Given the description of an element on the screen output the (x, y) to click on. 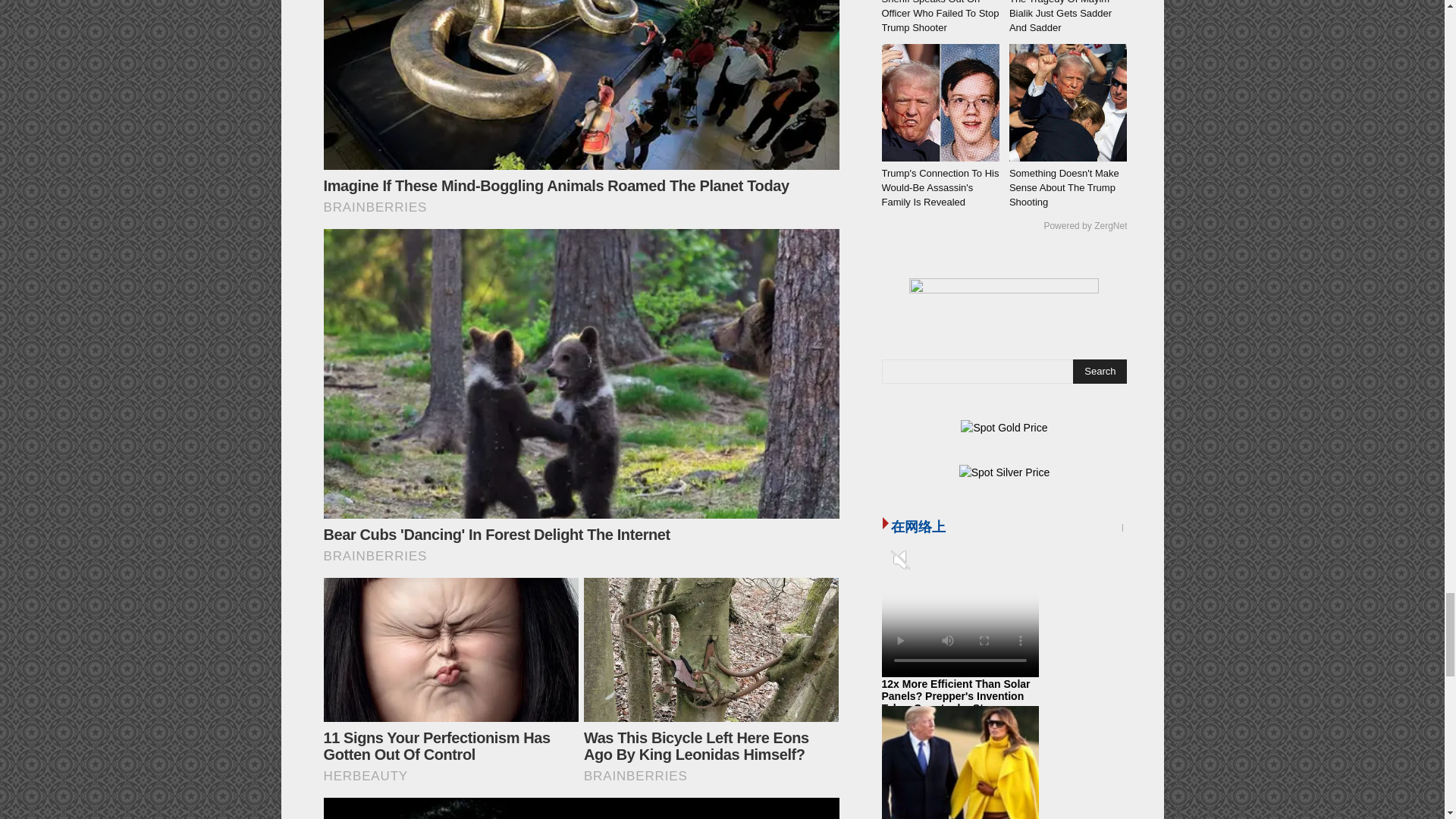
Search (1099, 371)
